Given the description of an element on the screen output the (x, y) to click on. 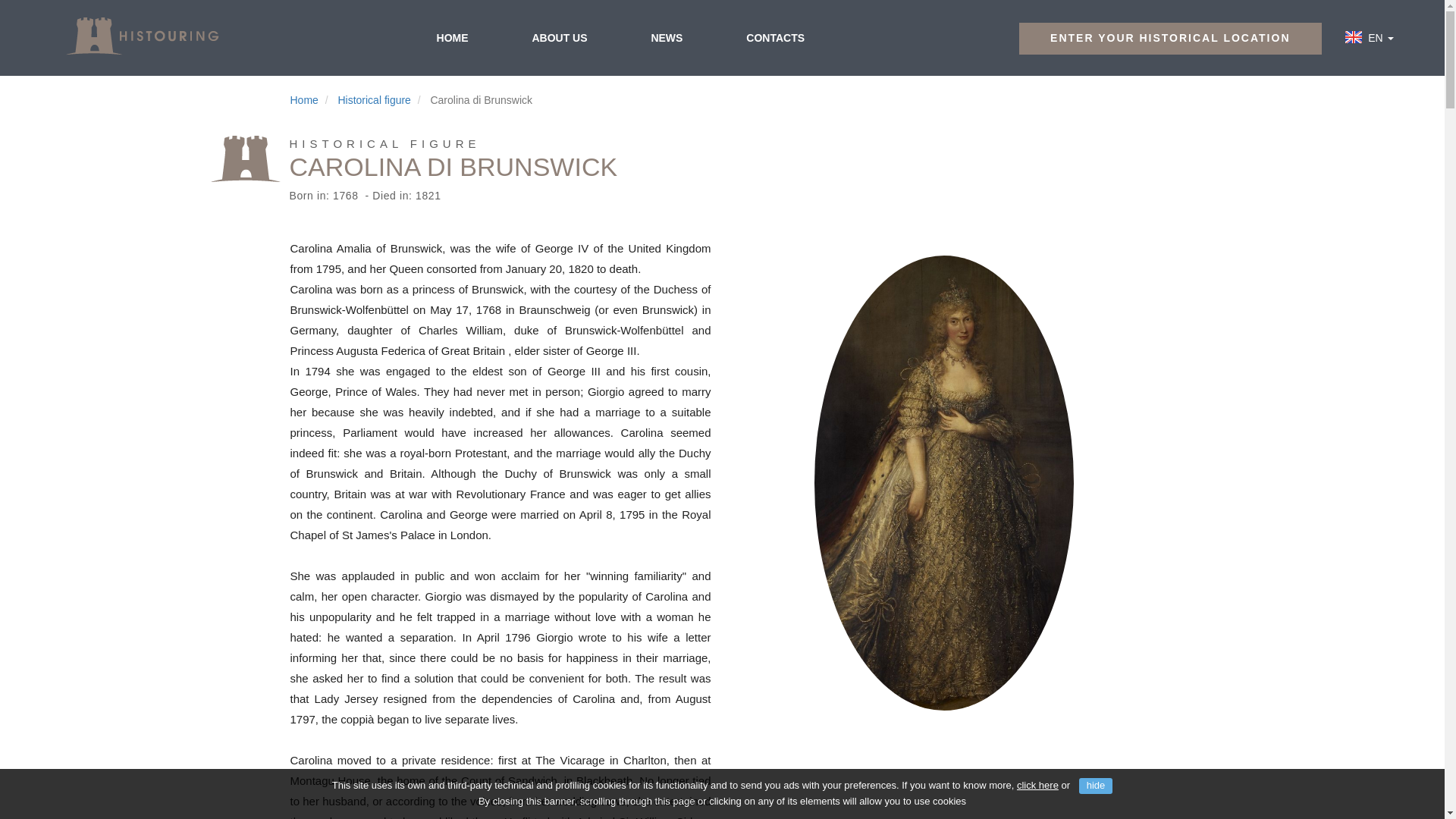
Histouring (141, 35)
Histouring (141, 35)
ABOUT US (558, 37)
ABOUT US (558, 37)
  EN  (1377, 37)
NEWS (666, 37)
Histouring (141, 35)
Historical figure (373, 100)
HOME (452, 37)
CONTACTS (775, 37)
NEWS (666, 37)
Home (303, 100)
ENTER YOUR HISTORICAL LOCATION (1169, 38)
HOME (452, 37)
CONTACTS (775, 37)
